Given the description of an element on the screen output the (x, y) to click on. 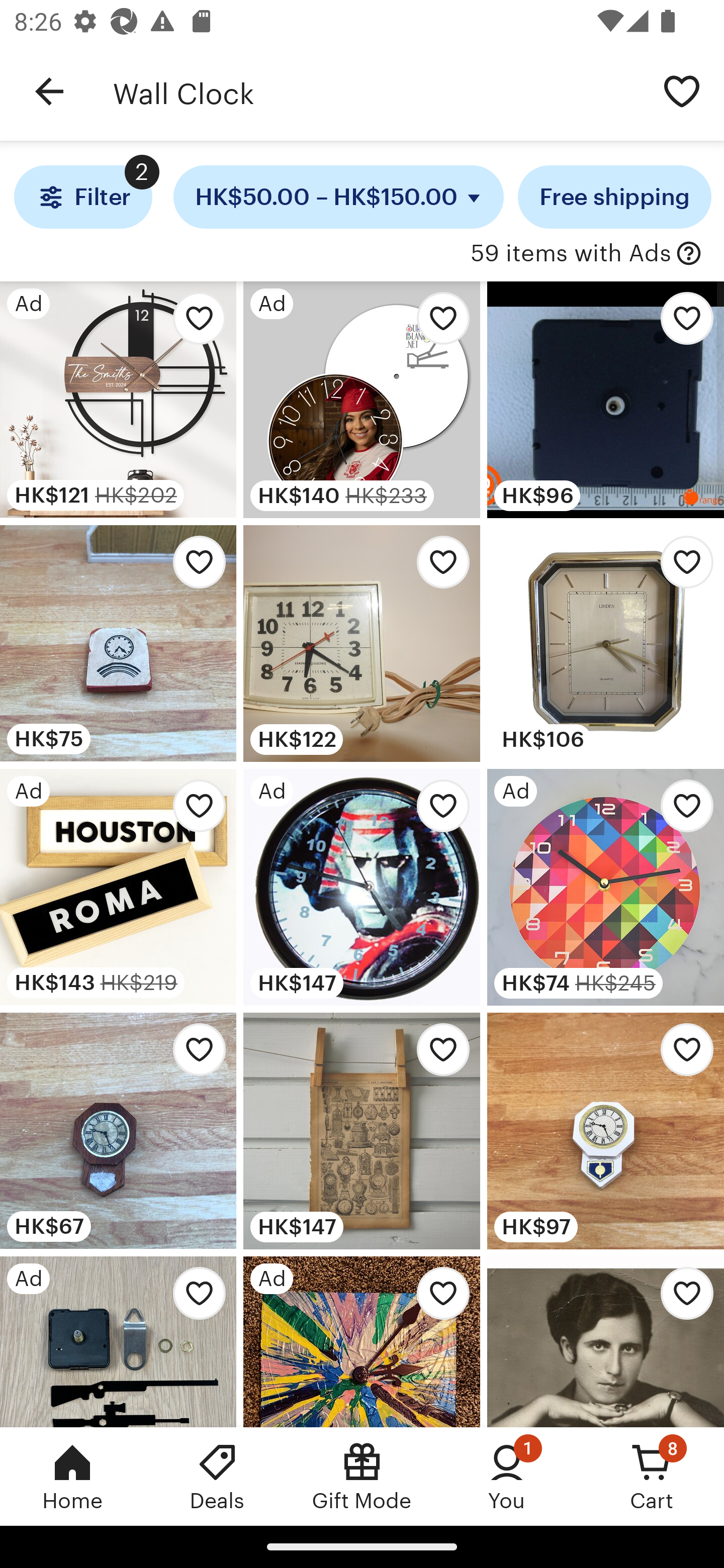
Navigate up (49, 91)
Save search (681, 90)
Wall Clock (375, 91)
Filter (82, 197)
HK$50.00 – HK$150.00 (338, 197)
Free shipping (614, 197)
59 items with Ads (570, 253)
with Ads (688, 253)
Add Old wall clock for the dollhouse to favorites (194, 567)
Add Vintage GE Wall Clock to favorites (438, 567)
Add Giant Robot Wall clock! to favorites (438, 810)
Add 1921 Vintage Clocks Illustration to favorites (438, 1054)
Add Gun shaped clock hands to favorites (194, 1297)
Clock Button Ad Add Clock to favorites (361, 1340)
Add Clock to favorites (438, 1297)
Deals (216, 1475)
Gift Mode (361, 1475)
You, 1 new notification You (506, 1475)
Cart, 8 new notifications Cart (651, 1475)
